Given the description of an element on the screen output the (x, y) to click on. 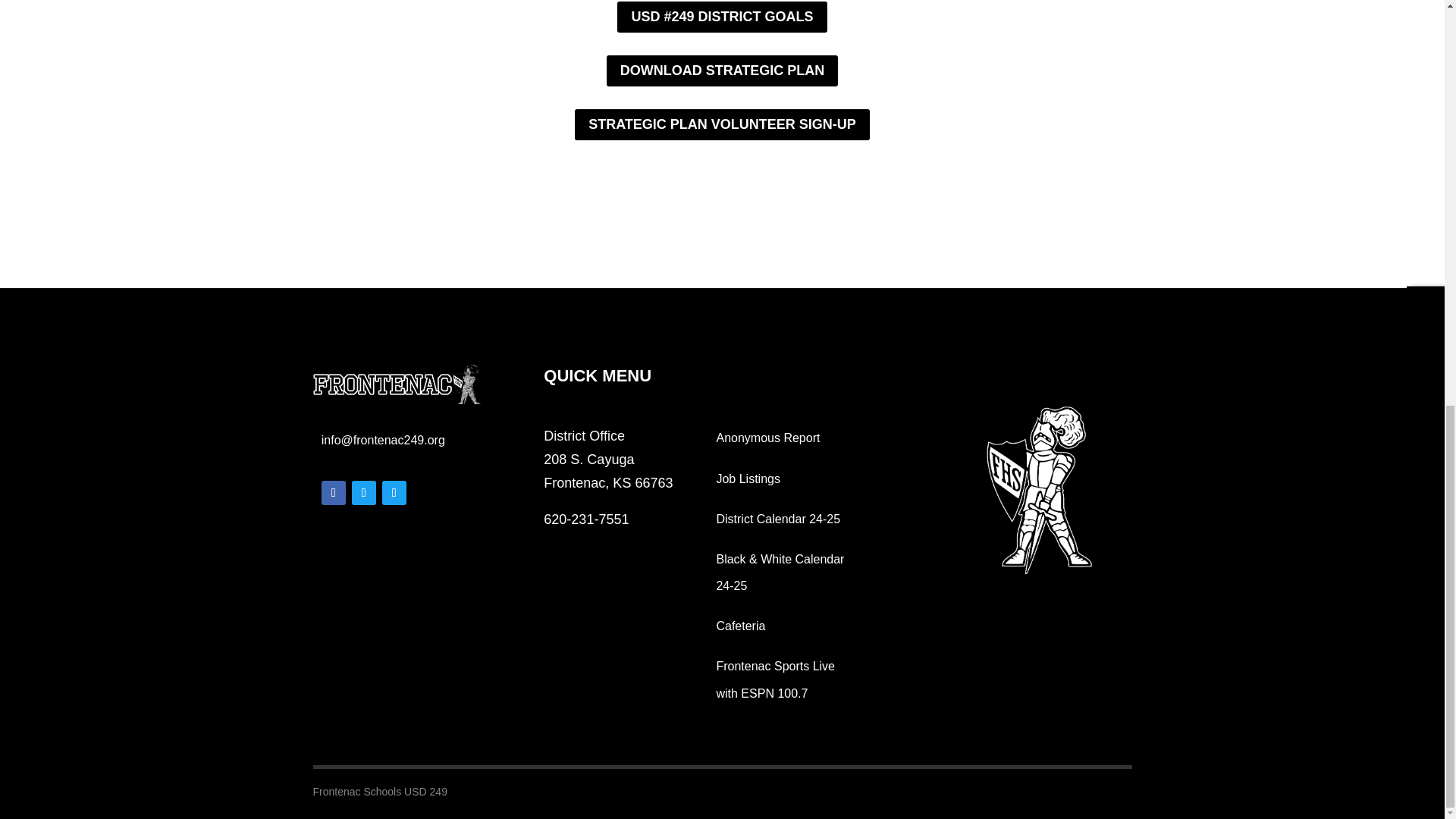
raiders-logo.png (398, 384)
Follow on Twitter (363, 492)
Follow on Twitter (393, 492)
Follow on Facebook (333, 492)
